Given the description of an element on the screen output the (x, y) to click on. 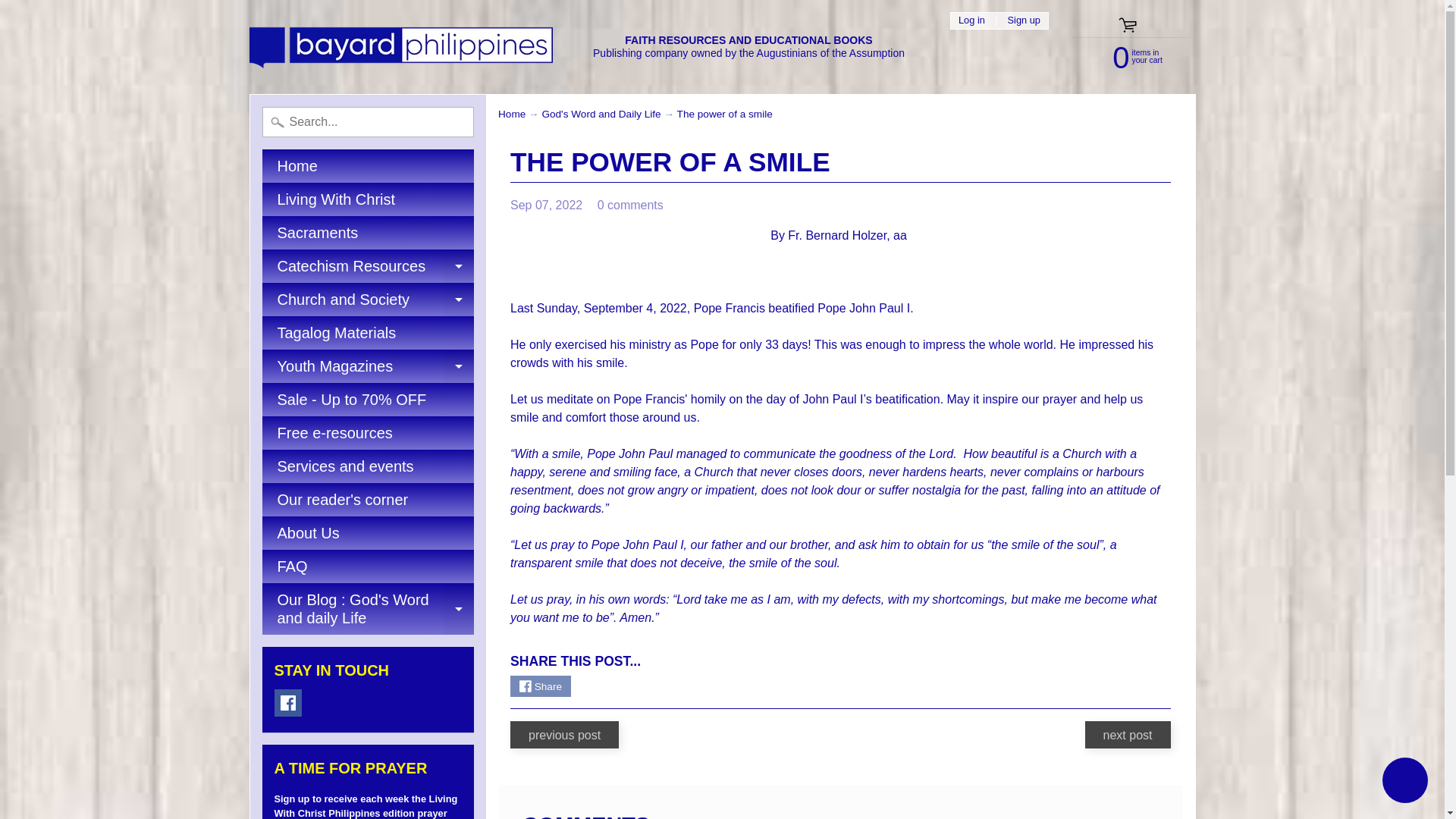
About Us (1122, 56)
Our reader's corner (368, 532)
Log in (368, 499)
Sign up (368, 299)
Services and events (970, 20)
expand child menu (368, 608)
expand child menu (1024, 20)
